Given the description of an element on the screen output the (x, y) to click on. 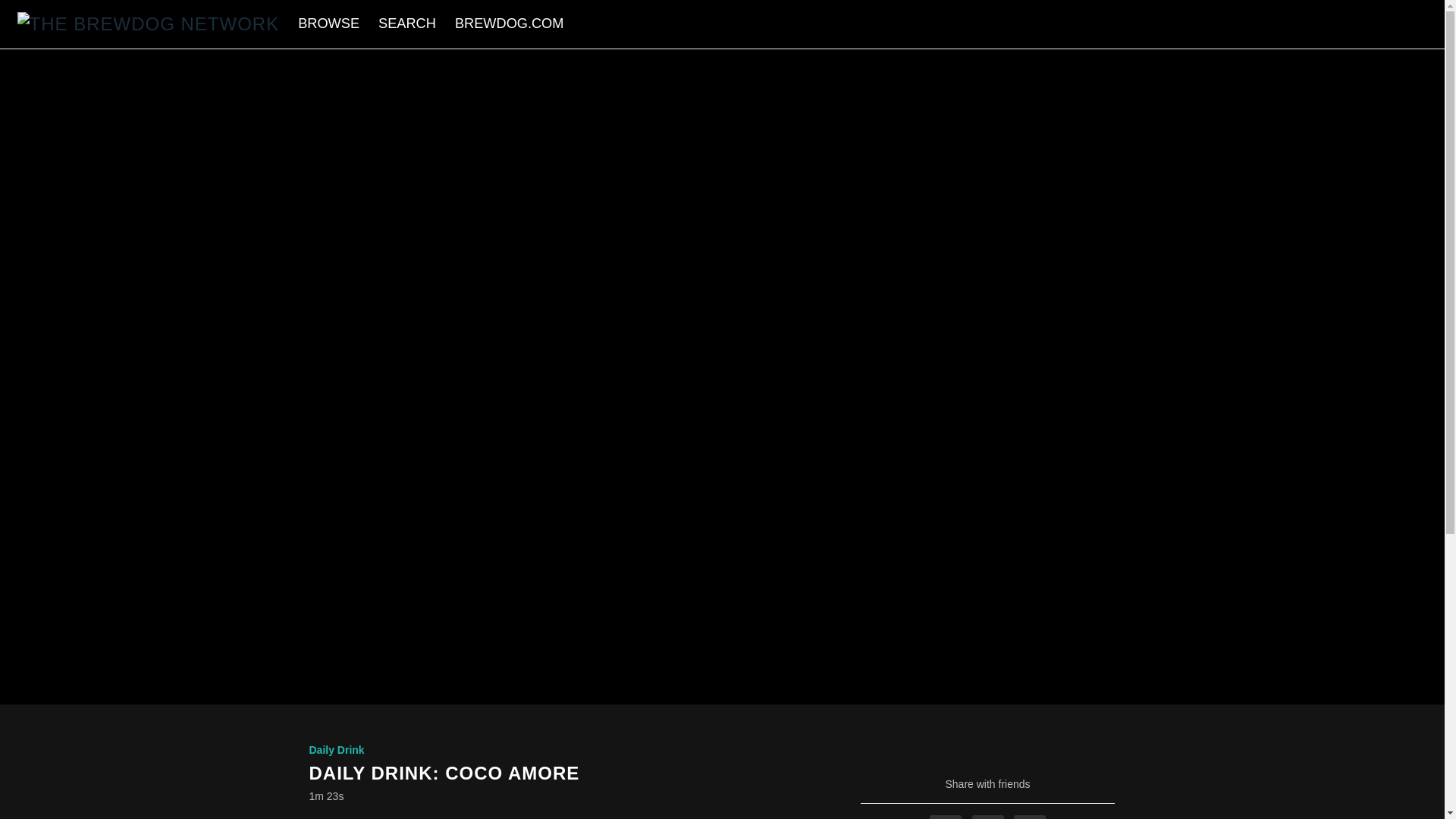
FACEBOOK (945, 816)
SEARCH (408, 23)
EMAIL (1029, 816)
Daily Drink (336, 749)
BREWDOG.COM (508, 23)
TWITTER (988, 816)
Skip to main content (48, 7)
BROWSE (330, 23)
